Given the description of an element on the screen output the (x, y) to click on. 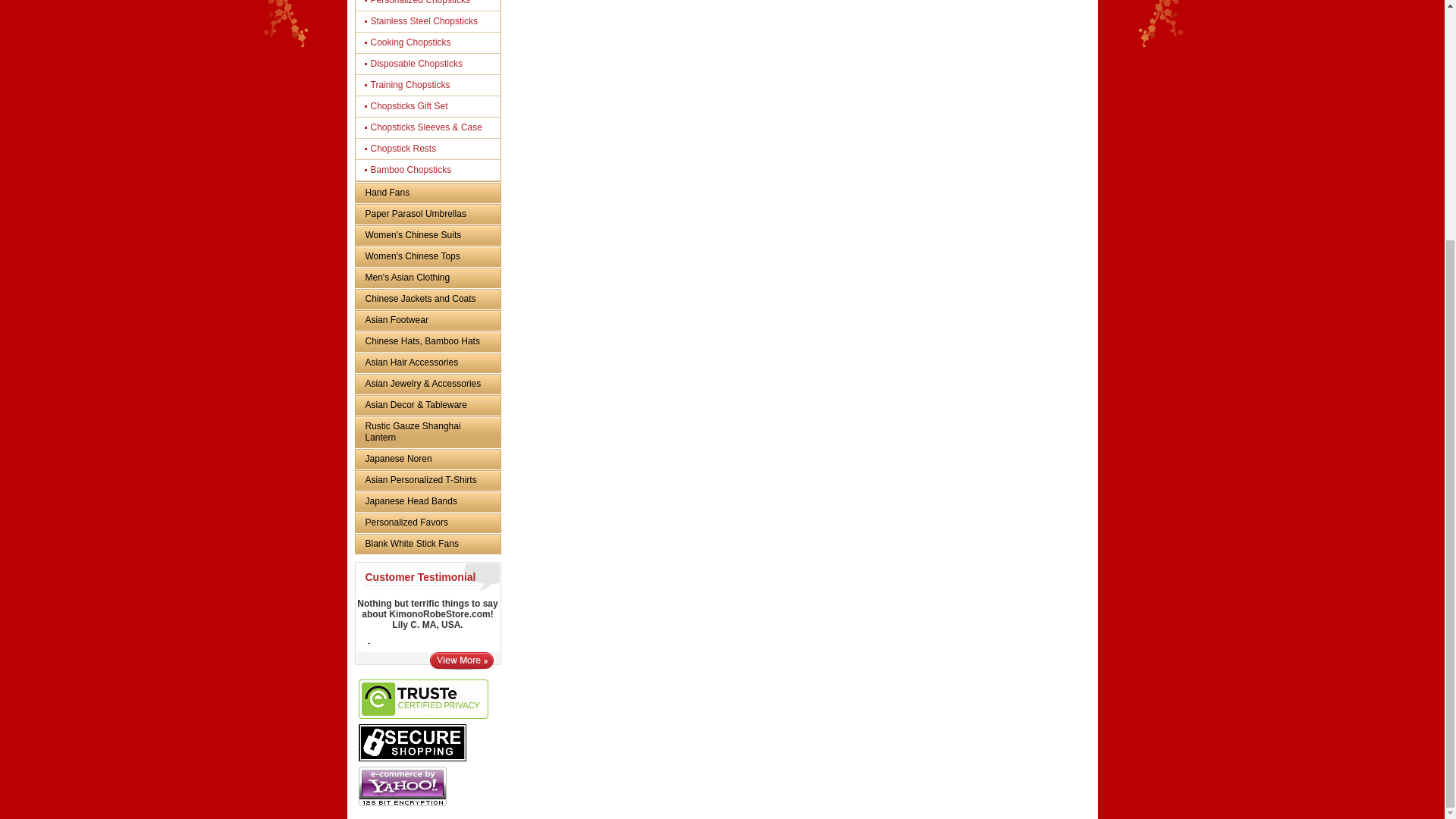
Chinese Hats, Bamboo Hats (427, 341)
Bamboo Chopsticks (431, 169)
Japanese Head Bands (427, 501)
Blank White Stick Fans (427, 543)
Chopstick Rests (431, 148)
Disposable Chopsticks (431, 63)
Chopstick Rests (431, 148)
Cooking Chopsticks (431, 42)
Women's Chinese Tops (427, 256)
Asian Personalized T-Shirts (427, 479)
Hand Fans (427, 192)
Asian Footwear (427, 320)
Paper Parasol Umbrellas (427, 213)
Personalized Chopsticks (431, 4)
Personalized Chopsticks (431, 4)
